Given the description of an element on the screen output the (x, y) to click on. 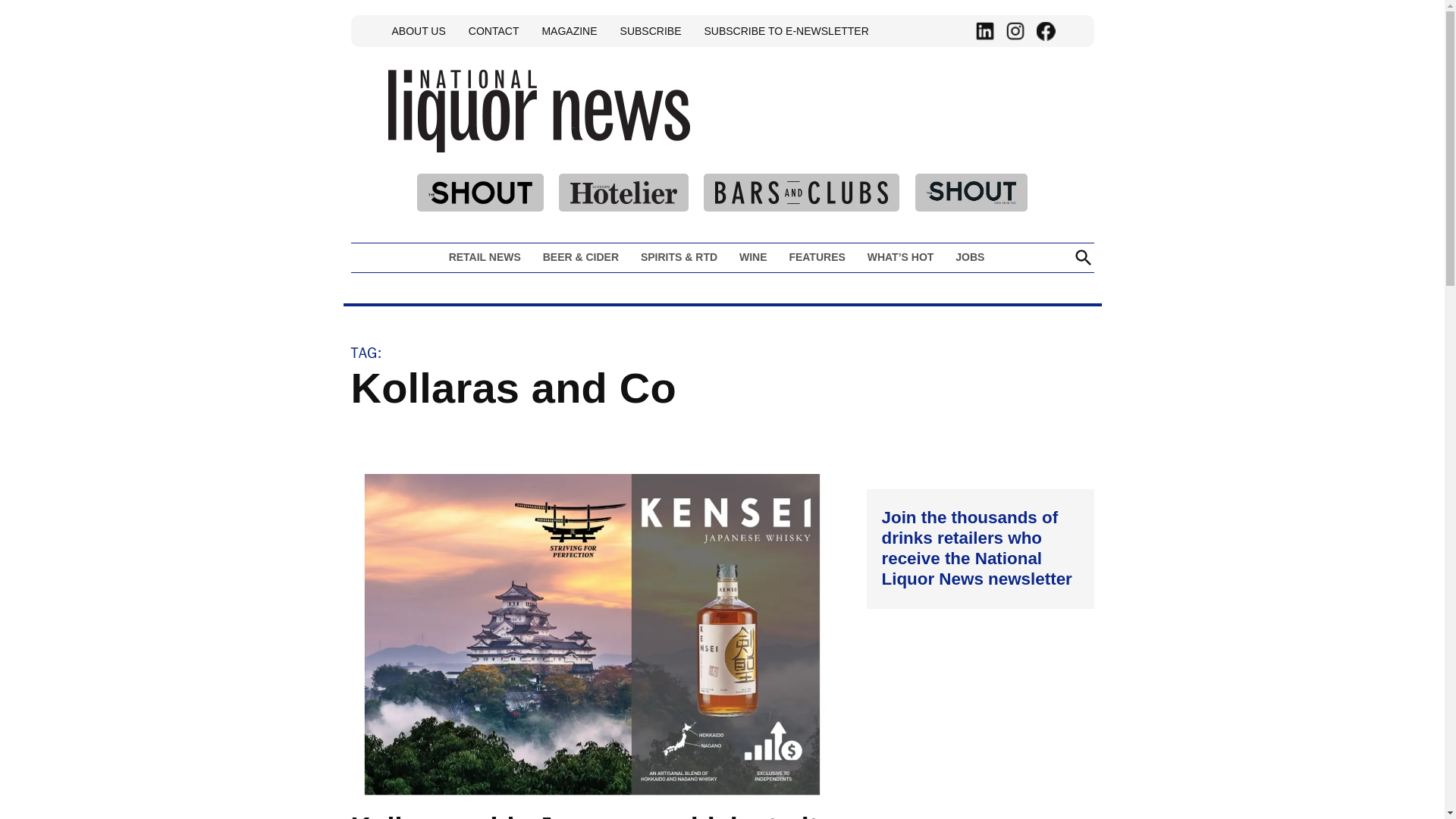
SUBSCRIBE (650, 30)
CONTACT (493, 30)
National Liquor News (733, 144)
RETAIL NEWS (488, 256)
Facebook (1045, 31)
SUBSCRIBE TO E-NEWSLETTER (786, 30)
Linkedin (984, 31)
MAGAZINE (568, 30)
ABOUT US (418, 30)
Instagram (1015, 31)
